Given the description of an element on the screen output the (x, y) to click on. 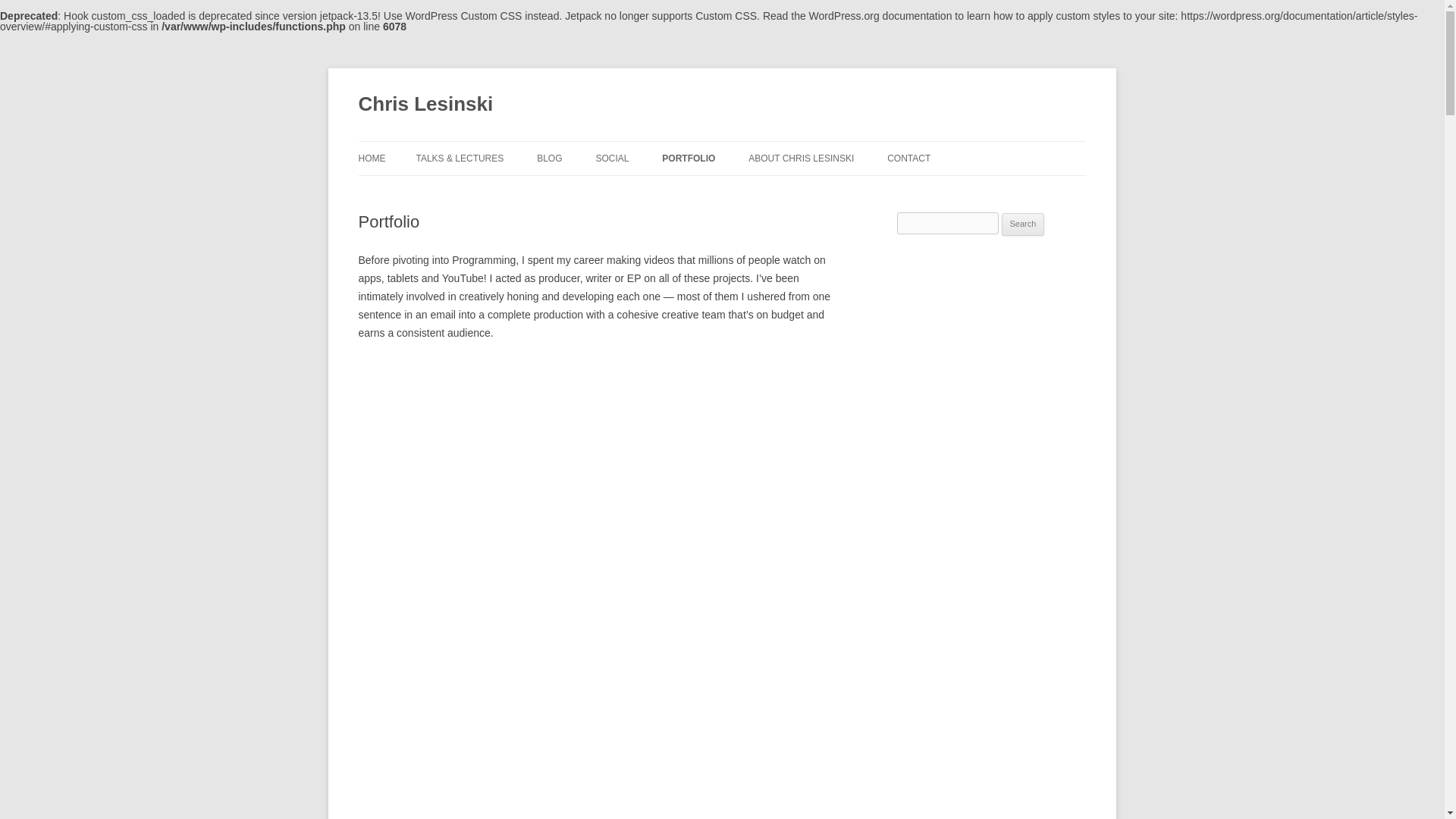
SOCIAL (611, 158)
Chris Lesinski (425, 104)
Search (1023, 223)
Search (1023, 223)
ABOUT CHRIS LESINSKI (800, 158)
CONTACT (908, 158)
PORTFOLIO (688, 158)
